Given the description of an element on the screen output the (x, y) to click on. 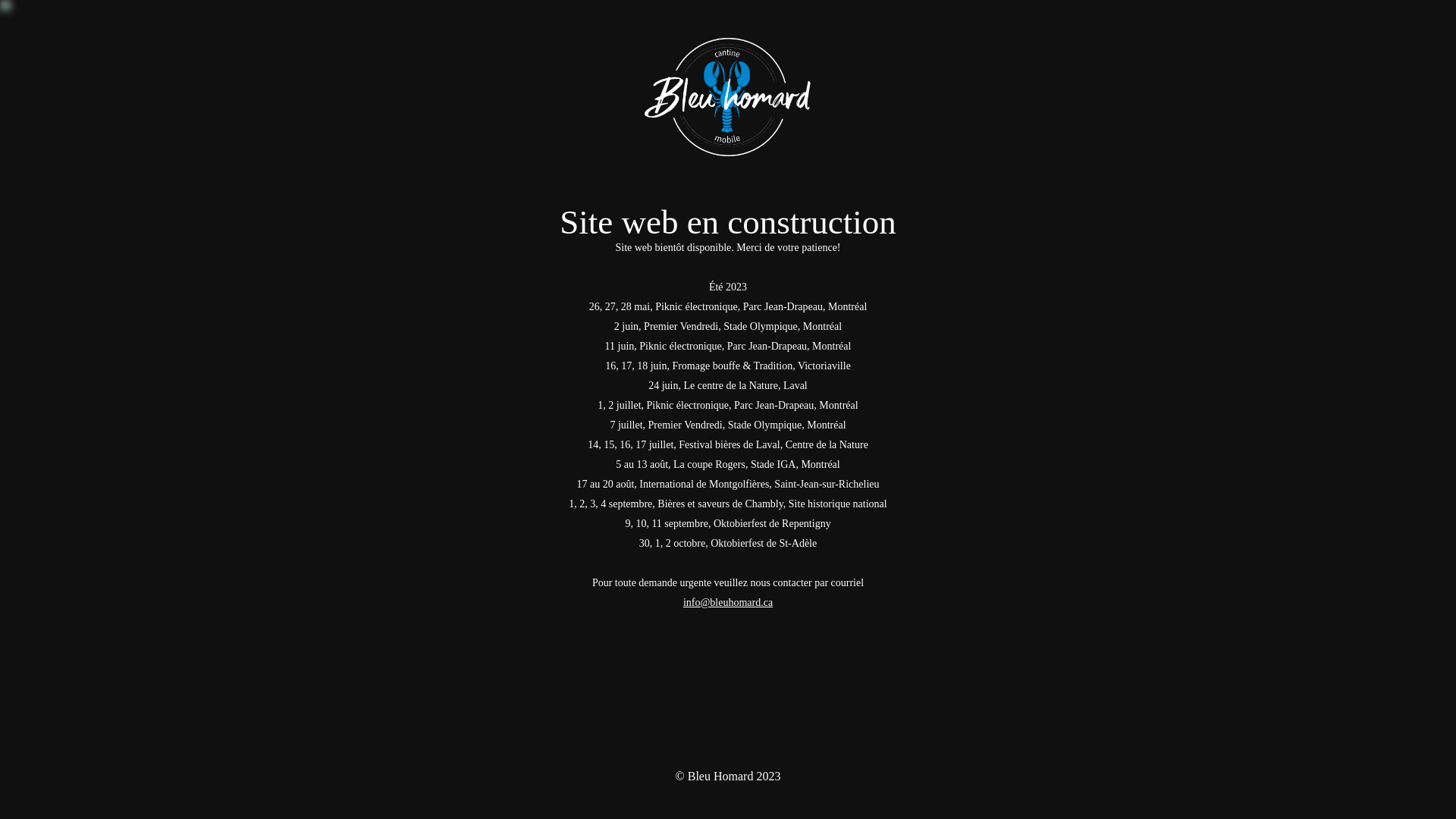
info@bleuhomard.ca Element type: text (727, 602)
